Given the description of an element on the screen output the (x, y) to click on. 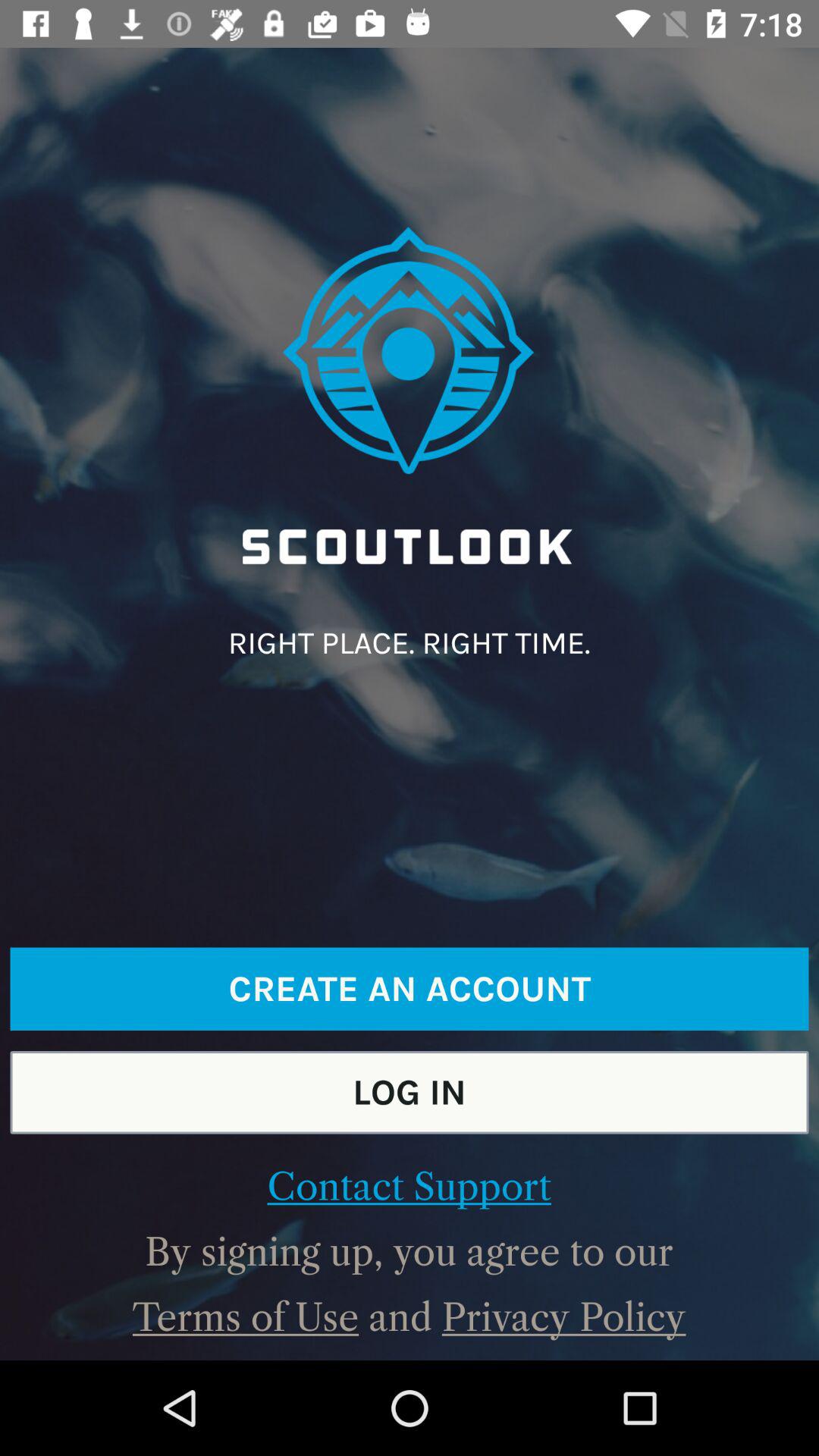
flip until log in item (409, 1092)
